Given the description of an element on the screen output the (x, y) to click on. 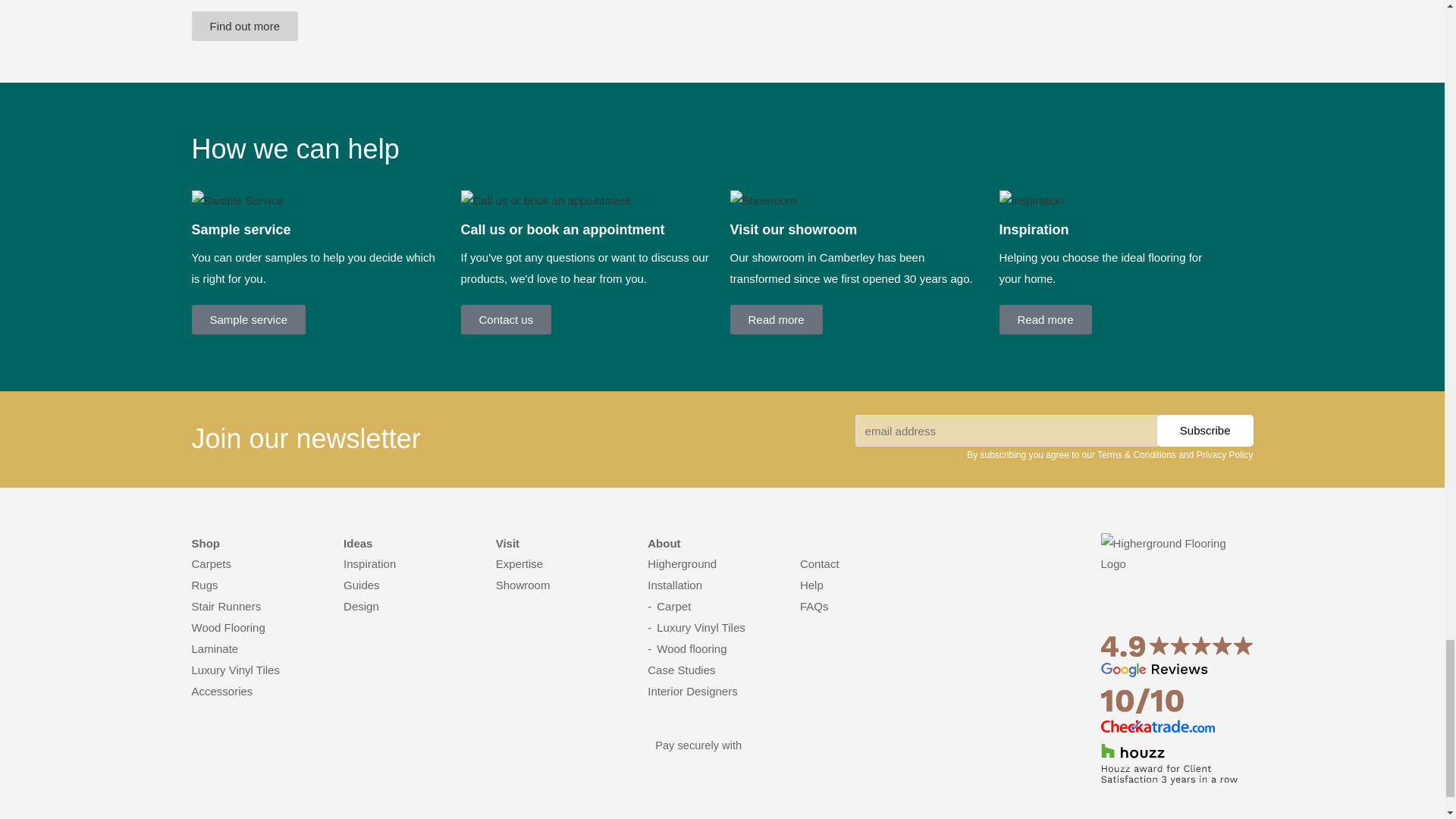
Subscribe (1205, 430)
